Given the description of an element on the screen output the (x, y) to click on. 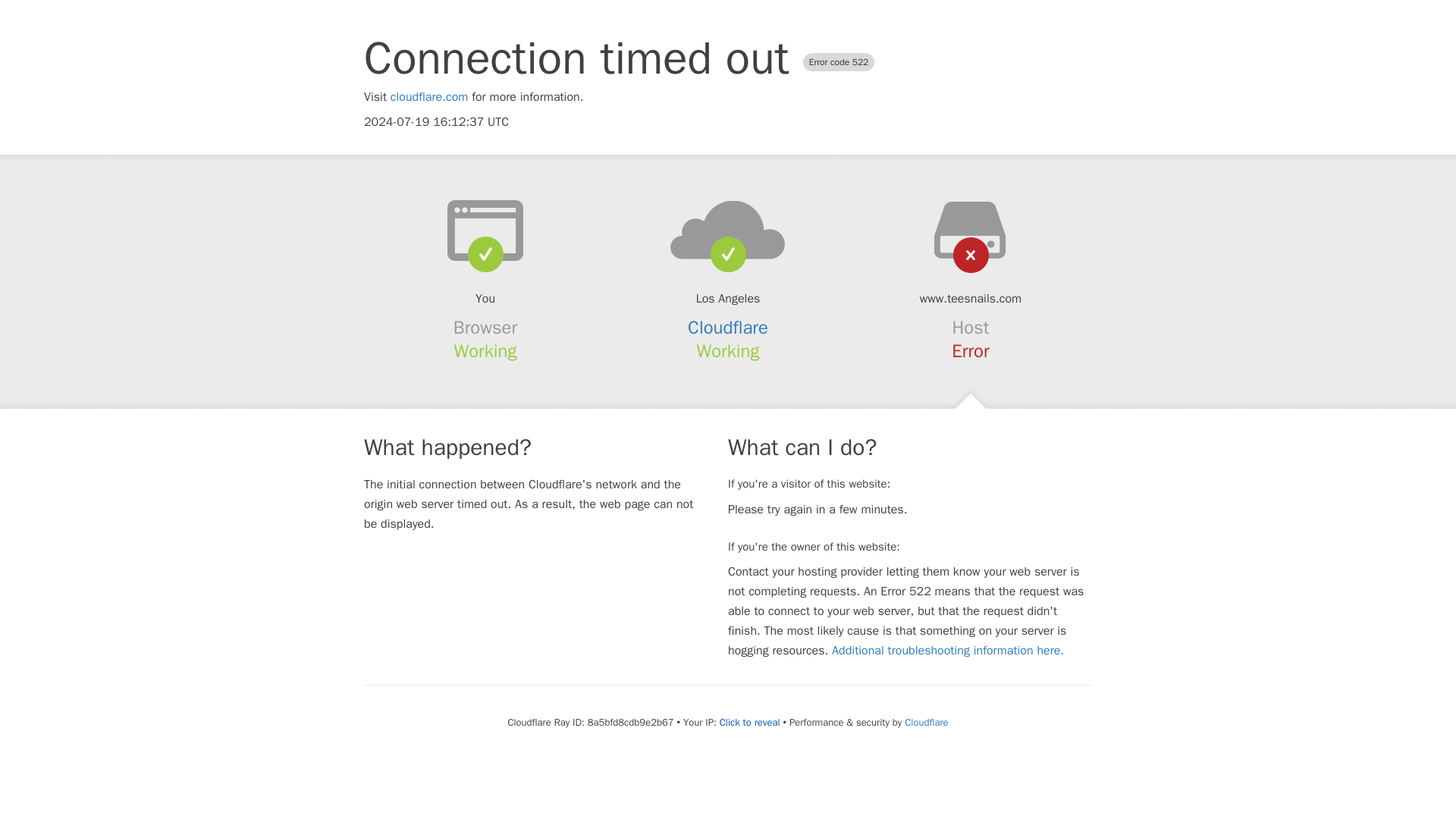
Cloudflare (727, 327)
cloudflare.com (429, 96)
Click to reveal (749, 722)
Cloudflare (925, 721)
Additional troubleshooting information here. (947, 650)
